Given the description of an element on the screen output the (x, y) to click on. 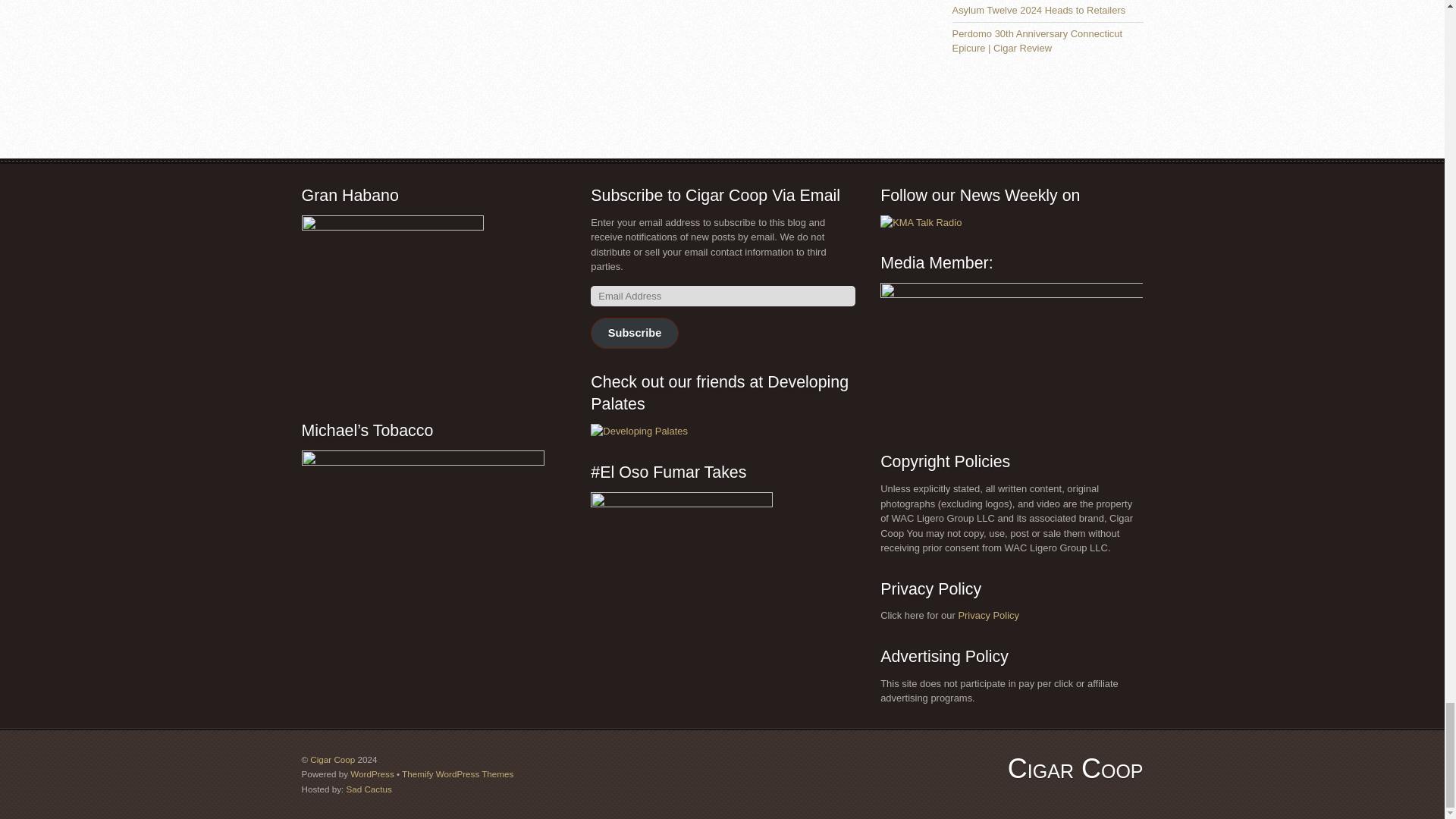
Cigar Coop (1074, 767)
